Given the description of an element on the screen output the (x, y) to click on. 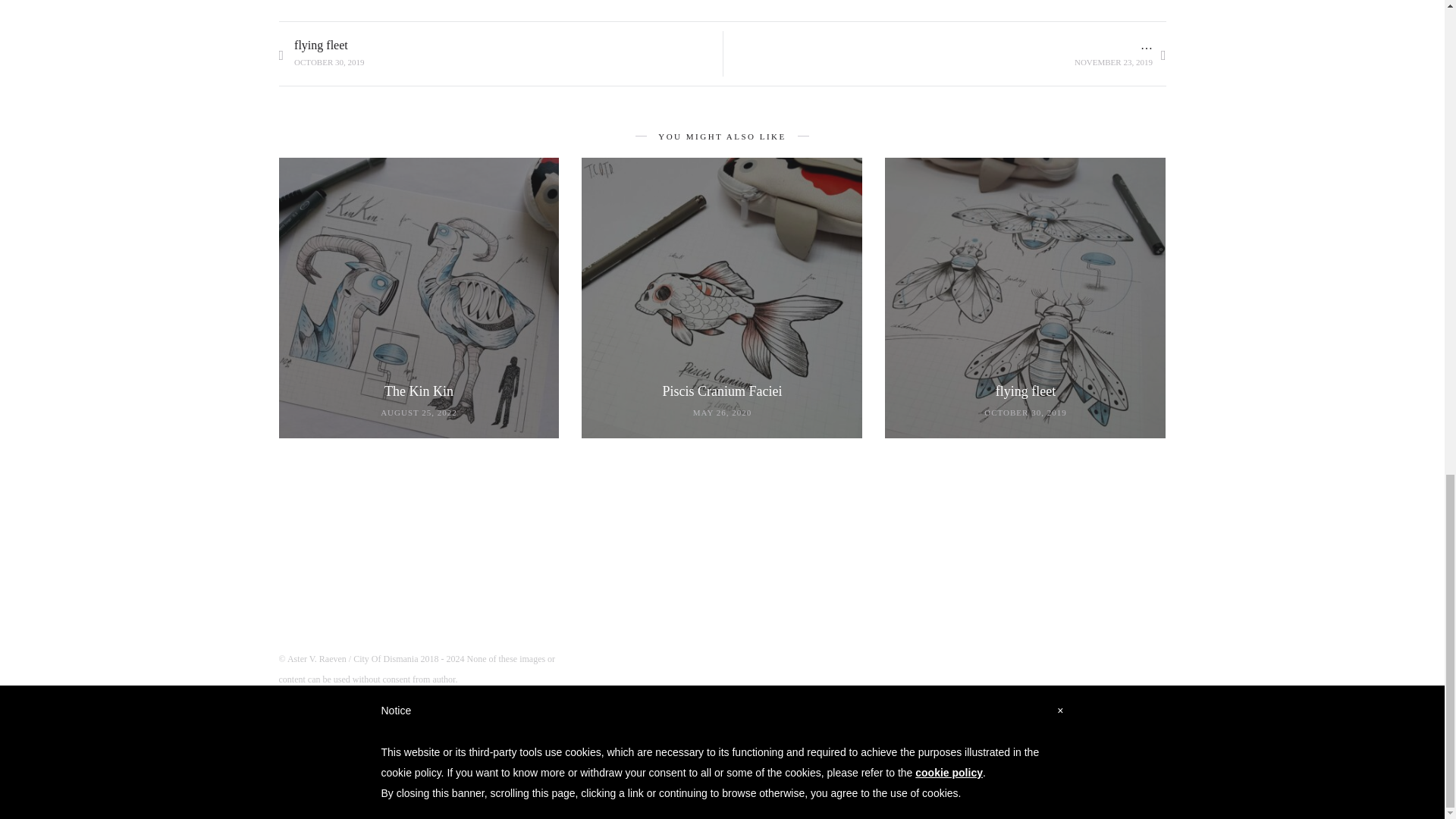
flying fleet (1025, 391)
The Kin Kin (322, 54)
flying fleet (418, 391)
Piscis Cranium Faciei (1025, 391)
Piscis Cranium Faciei (721, 391)
The Kin Kin (721, 391)
